Given the description of an element on the screen output the (x, y) to click on. 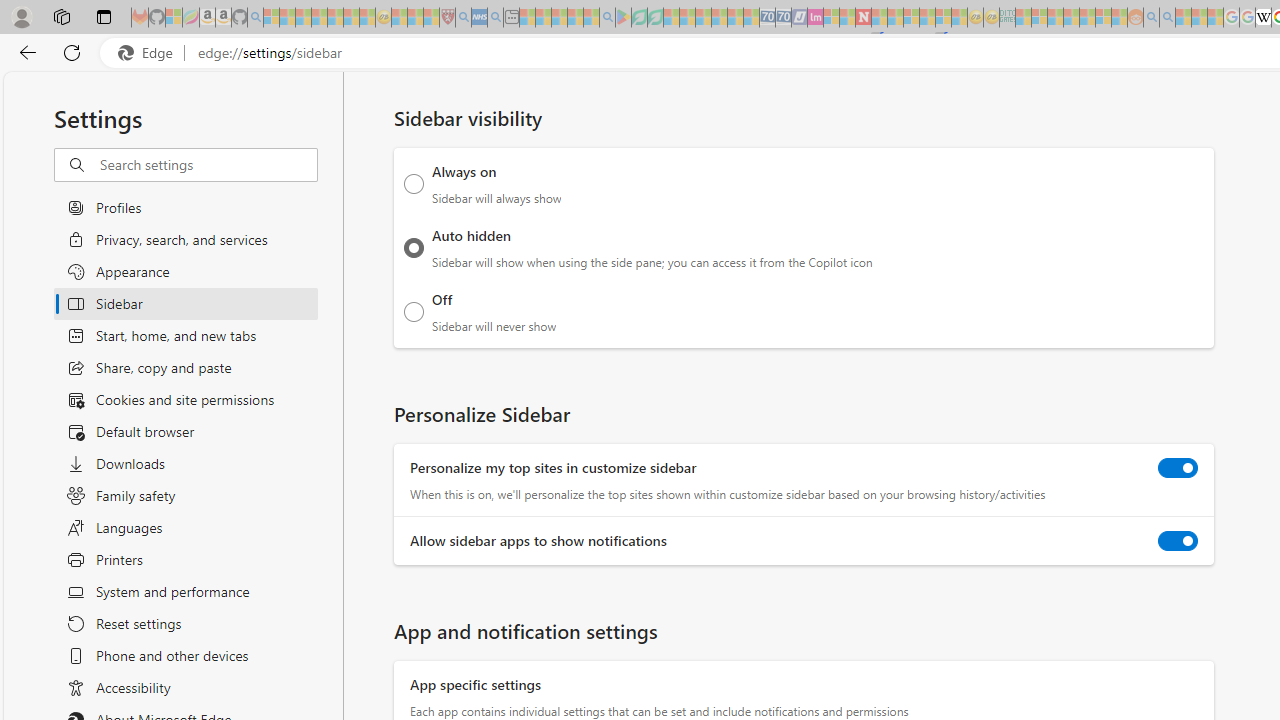
14 Common Myths Debunked By Scientific Facts - Sleeping (895, 17)
Local - MSN - Sleeping (431, 17)
The Weather Channel - MSN - Sleeping (303, 17)
Edge (150, 53)
